Given the description of an element on the screen output the (x, y) to click on. 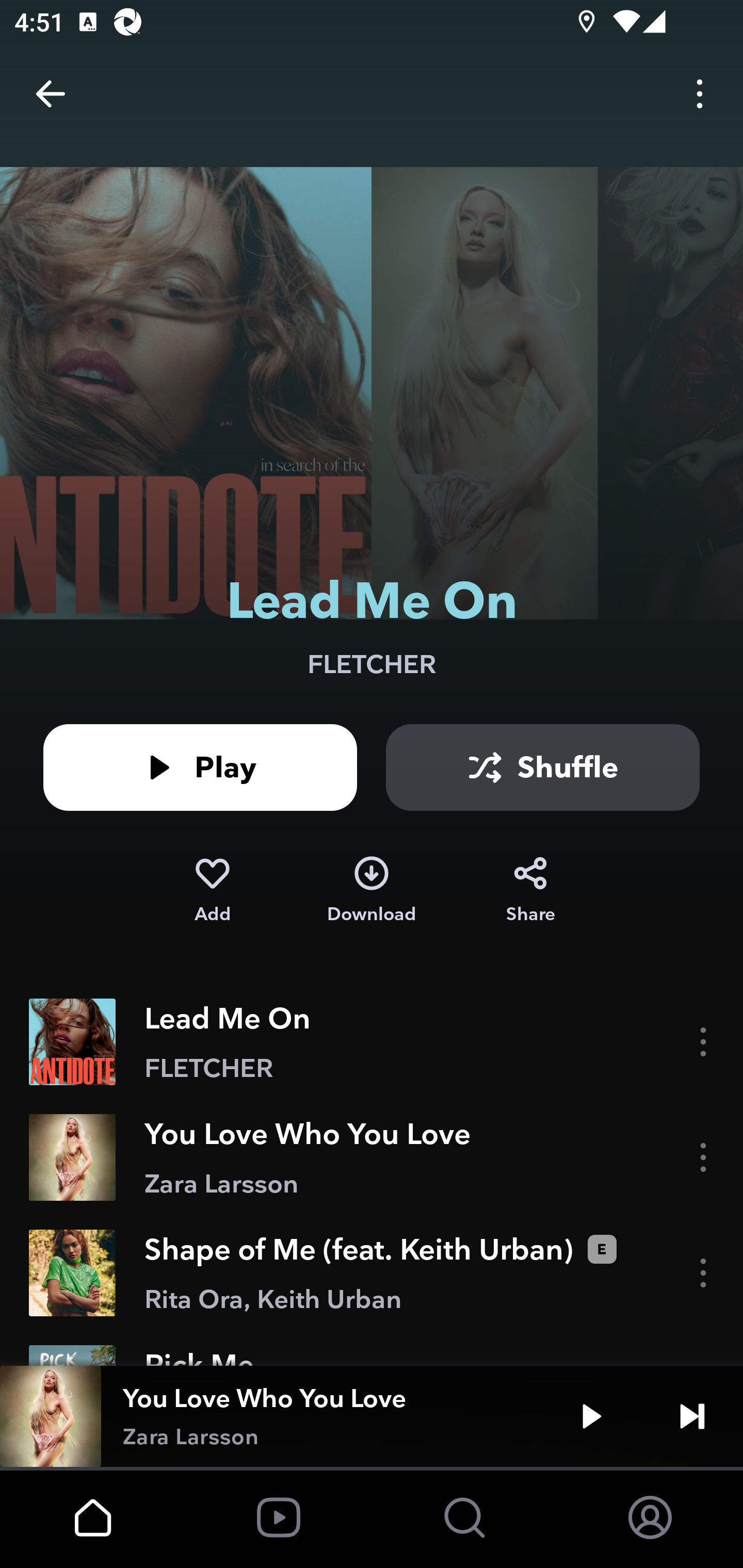
Options (699, 93)
Play (200, 767)
Shuffle (542, 767)
Add (211, 890)
Download (371, 890)
Share (530, 890)
Lead Me On FLETCHER (371, 1041)
You Love Who You Love Zara Larsson (371, 1157)
You Love Who You Love Zara Larsson Play (371, 1416)
Play (590, 1416)
